Given the description of an element on the screen output the (x, y) to click on. 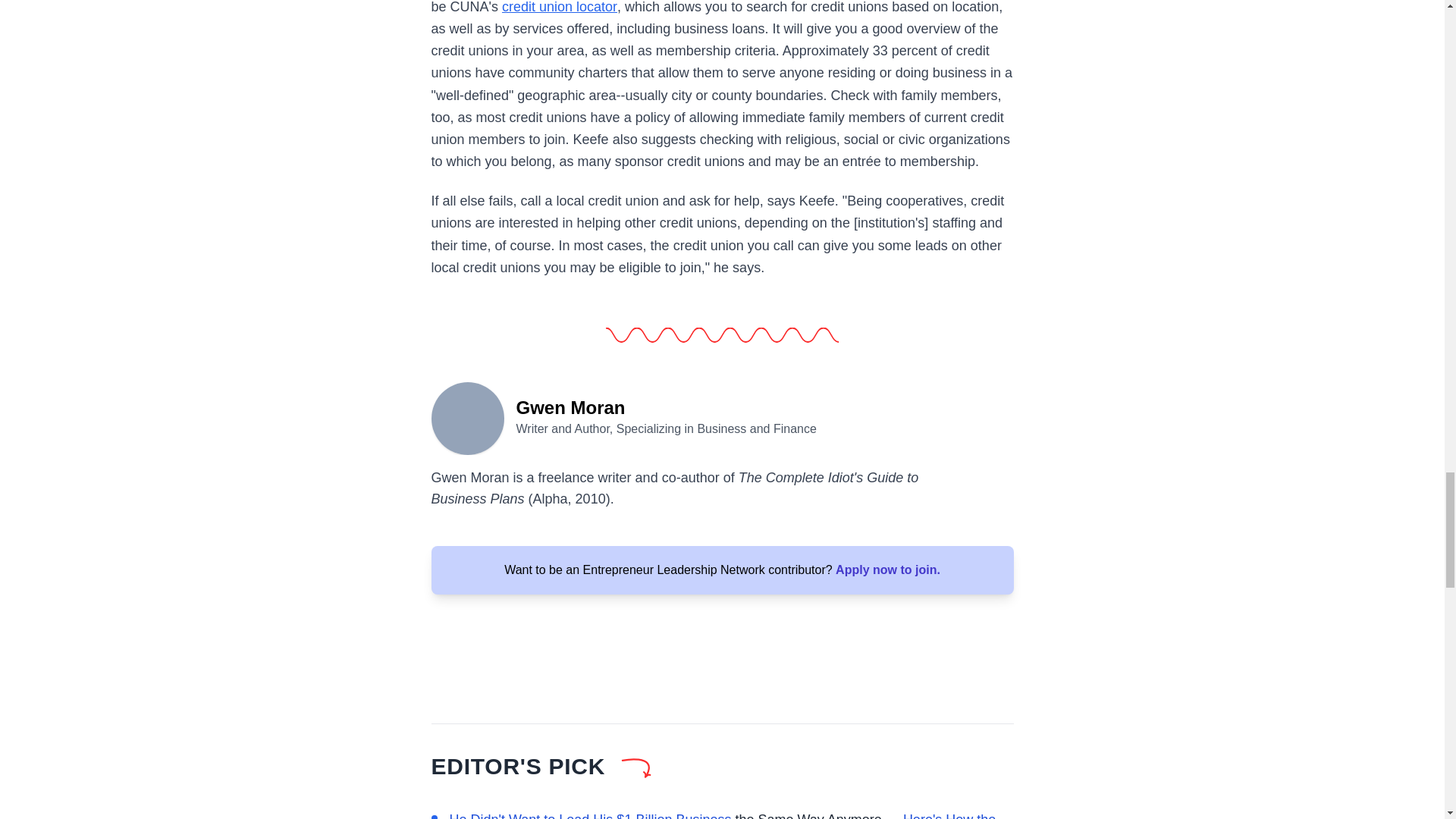
Gwen Moran (466, 417)
